Given the description of an element on the screen output the (x, y) to click on. 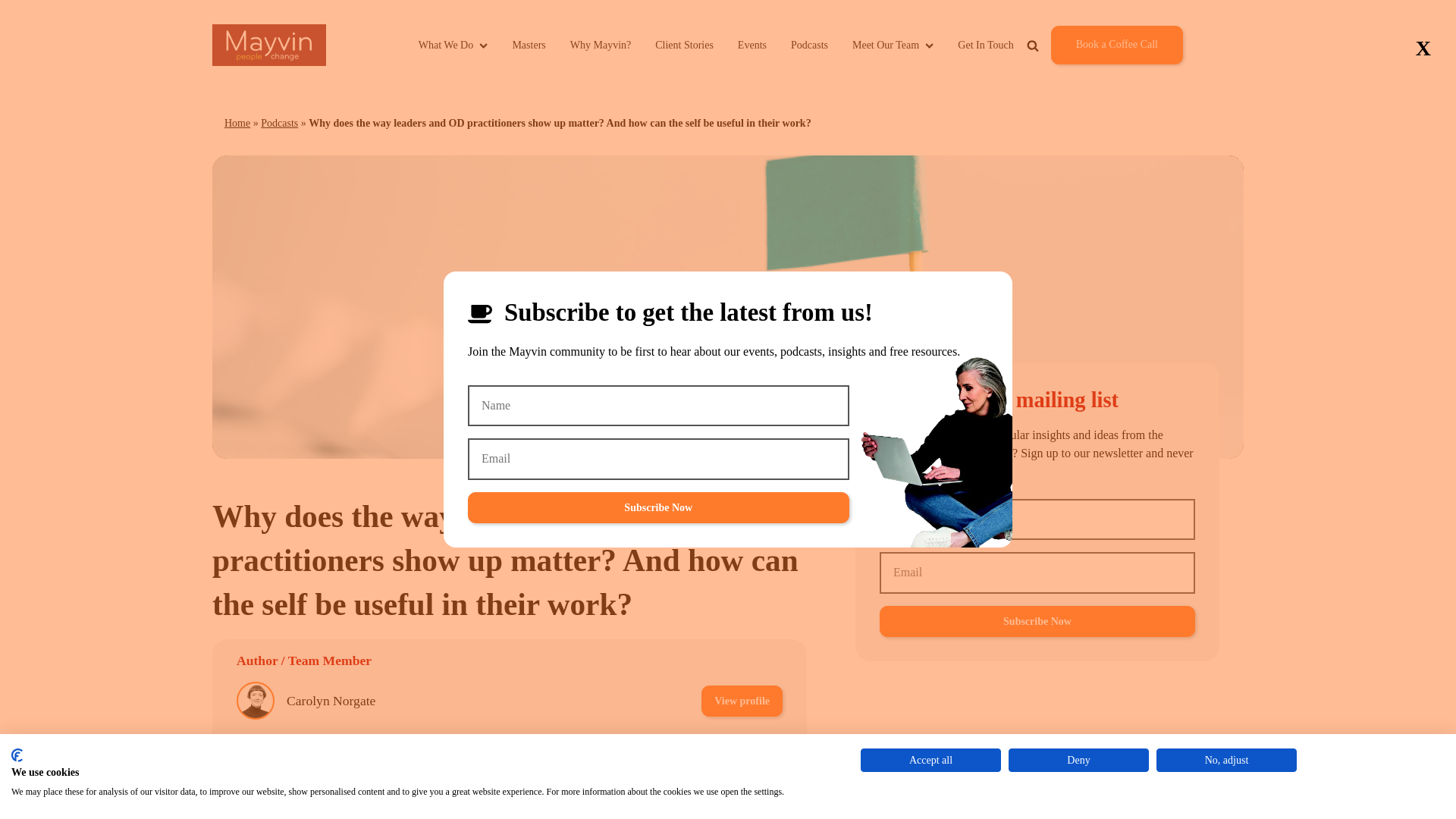
Client Stories (684, 45)
Subscribe Now (1037, 621)
Subscribe Now (657, 507)
View profile (742, 753)
Podcasts (279, 122)
Accept all (930, 760)
Podcast (642, 805)
What We Do (453, 45)
Book a Coffee Call (1116, 44)
View profile (742, 700)
Podcasts (809, 45)
Carolyn Norgate (330, 700)
X (1423, 48)
Get In Touch (985, 45)
Masters (528, 45)
